Given the description of an element on the screen output the (x, y) to click on. 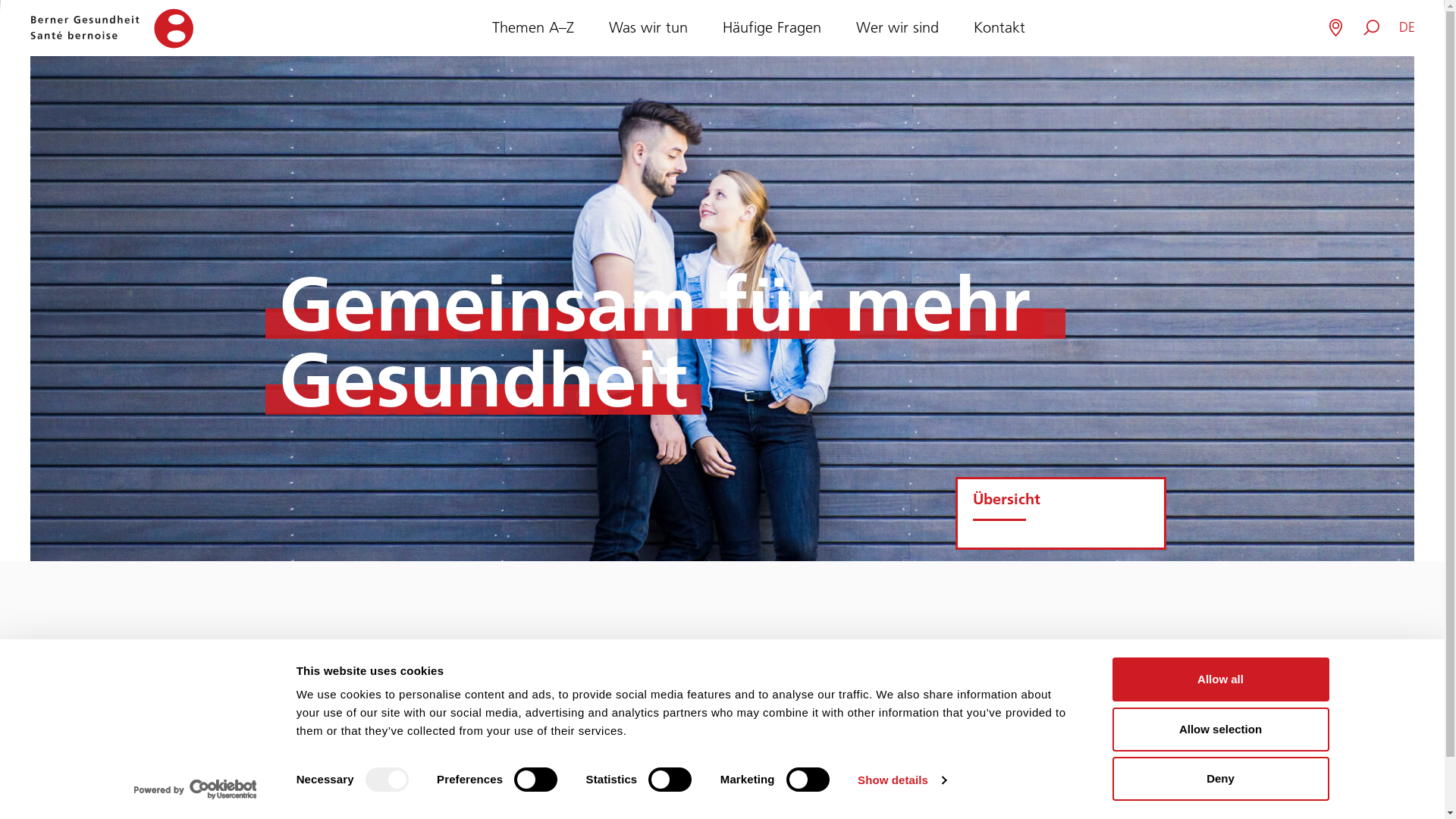
0800 070 070 Element type: text (321, 802)
DE Element type: text (1406, 27)
Newsletter Element type: text (1318, 809)
Impressum Element type: text (1160, 809)
Lageplan Element type: text (1092, 809)
Deny Element type: text (1219, 778)
Datenschutz Element type: text (1240, 809)
Show details Element type: text (901, 779)
Was wir tun Element type: text (647, 27)
Allow all Element type: text (1219, 679)
Wer wir sind Element type: text (896, 27)
Allow selection Element type: text (1219, 728)
Kontakt Element type: text (999, 27)
